Given the description of an element on the screen output the (x, y) to click on. 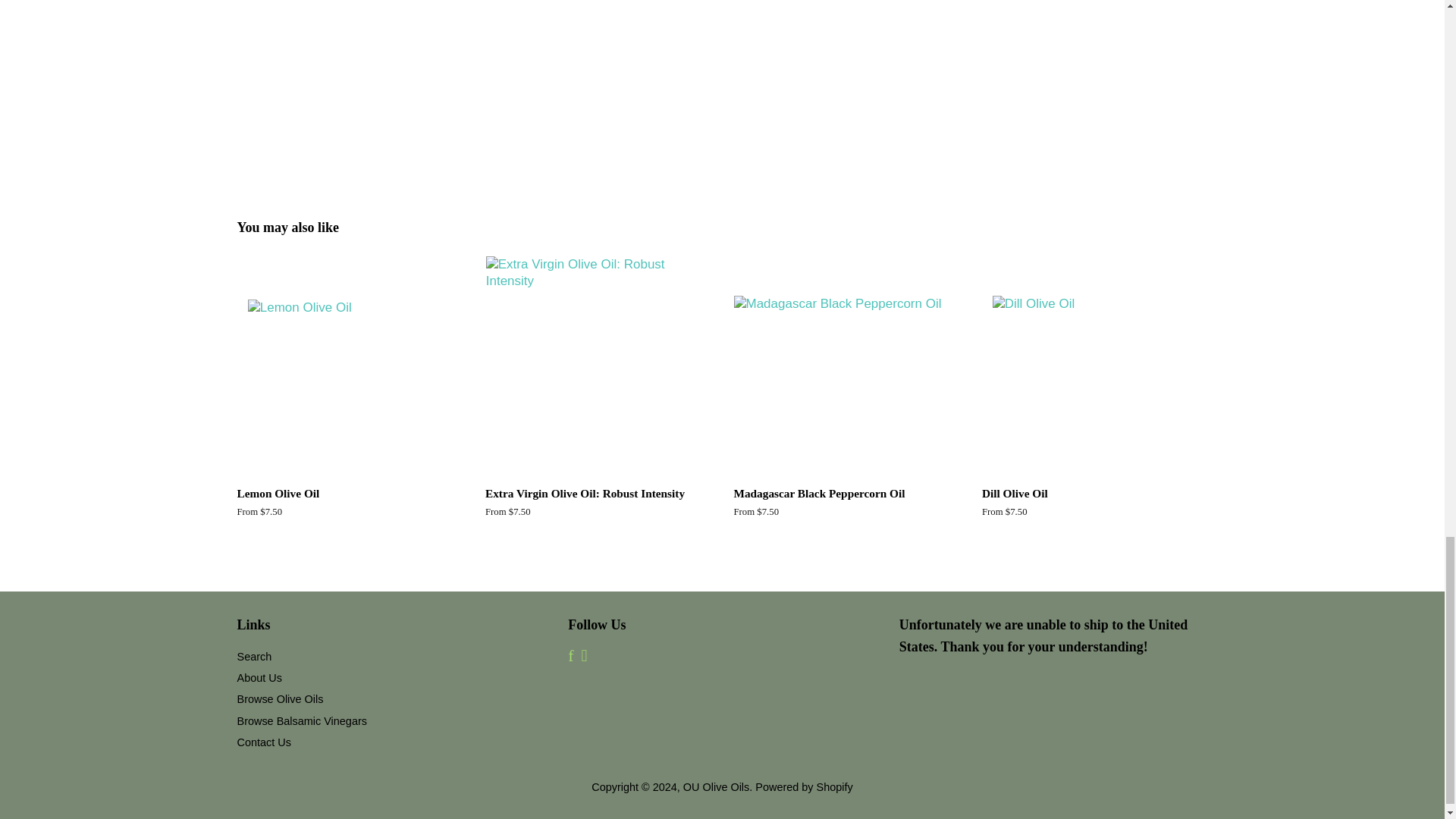
OU Olive Oils on Instagram (583, 657)
OU Olive Oils on Facebook (570, 657)
